Given the description of an element on the screen output the (x, y) to click on. 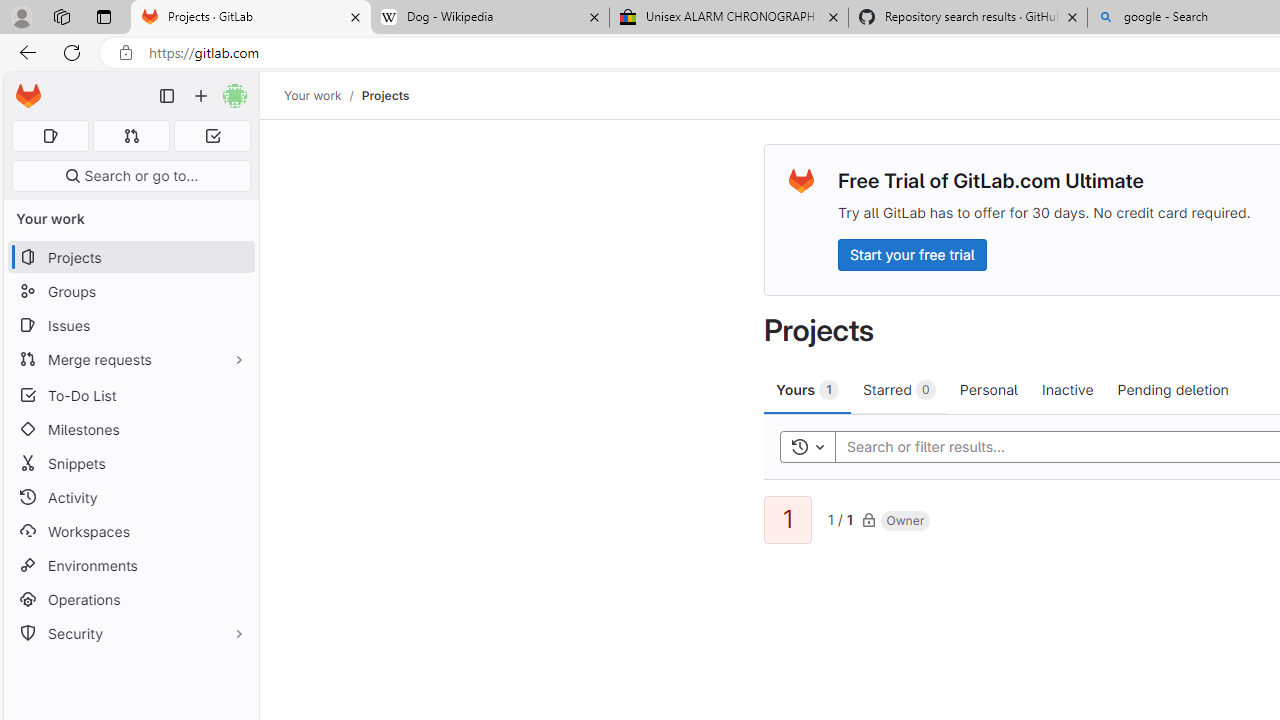
Yours 1 (808, 389)
Groups (130, 291)
To-Do list 0 (212, 136)
Projects (384, 95)
1 / 1 (840, 518)
Security (130, 633)
Dog - Wikipedia (490, 17)
To-Do List (130, 394)
